Given the description of an element on the screen output the (x, y) to click on. 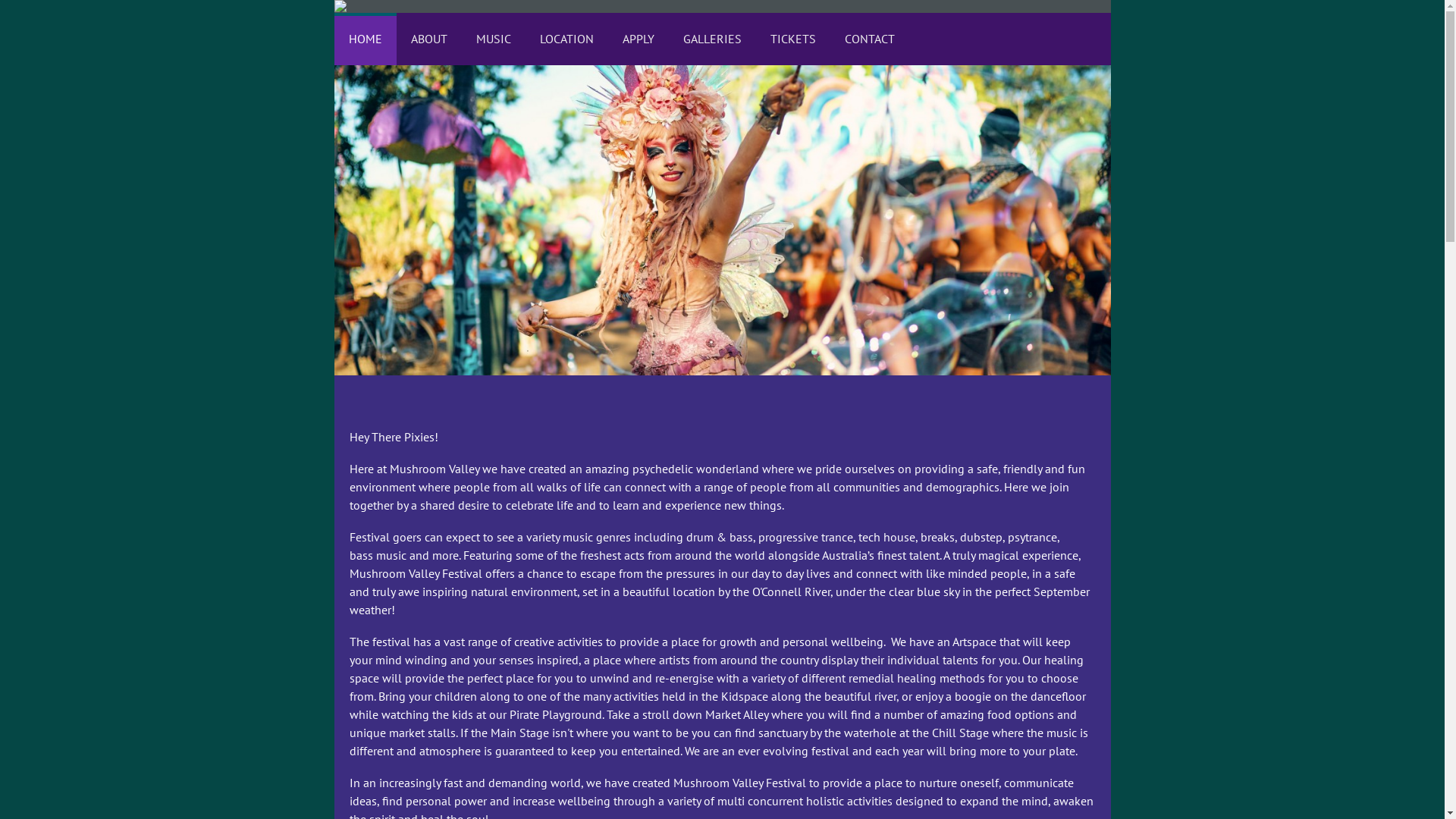
TICKETS Element type: text (792, 38)
MUSIC Element type: text (492, 38)
GALLERIES Element type: text (712, 38)
CONTACT Element type: text (868, 38)
APPLY Element type: text (638, 38)
HOME Element type: text (364, 38)
ABOUT Element type: text (428, 38)
LOCATION Element type: text (565, 38)
